Given the description of an element on the screen output the (x, y) to click on. 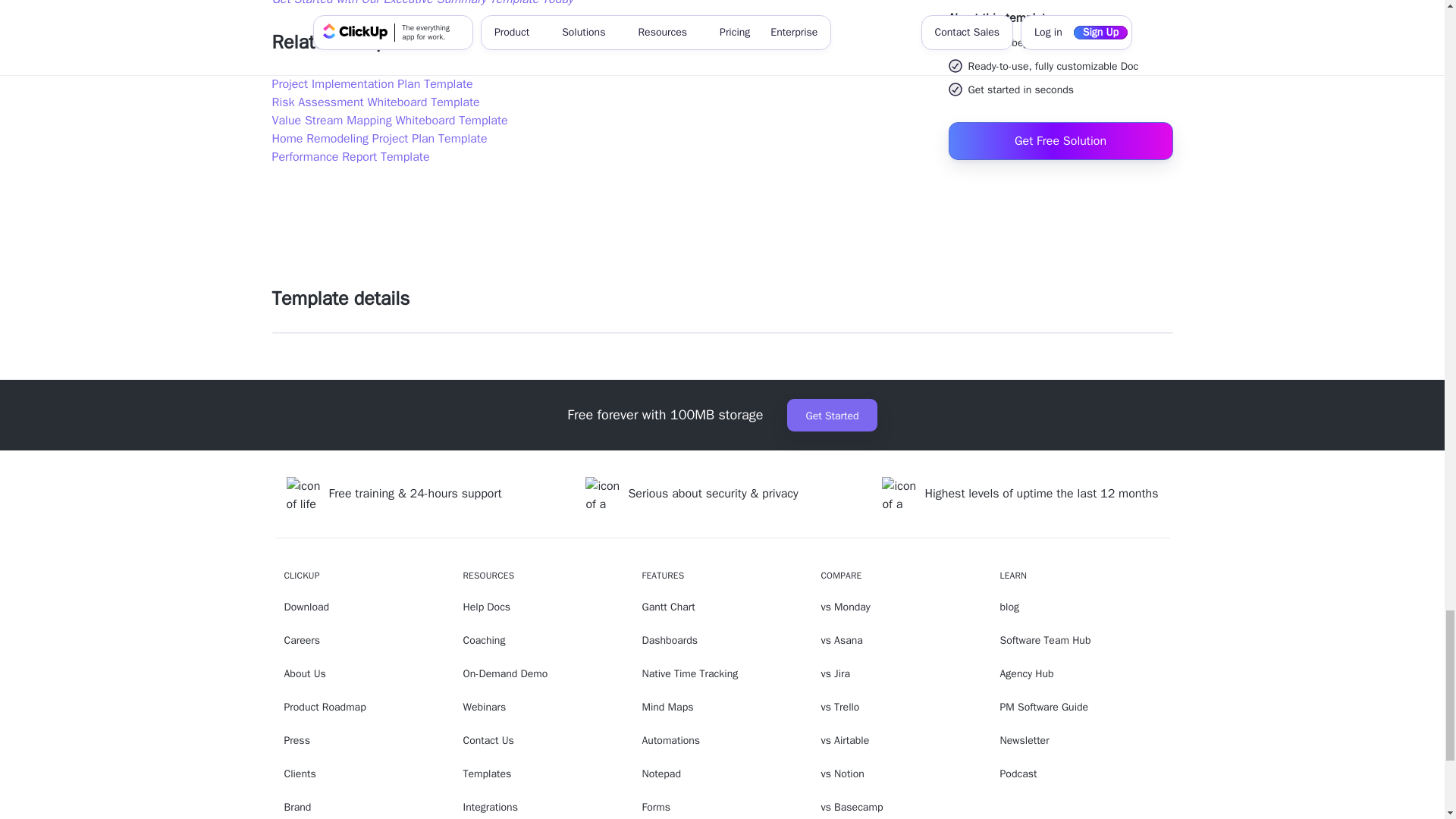
Home Remodeling Project Plan Template (378, 138)
Value Stream Mapping Whiteboard Template (388, 120)
Project Implementation Plan Template (370, 83)
Risk Assessment Whiteboard Template (374, 102)
Get Started with Our Executive Summary Template Today (421, 3)
Performance Report Template (349, 156)
